Given the description of an element on the screen output the (x, y) to click on. 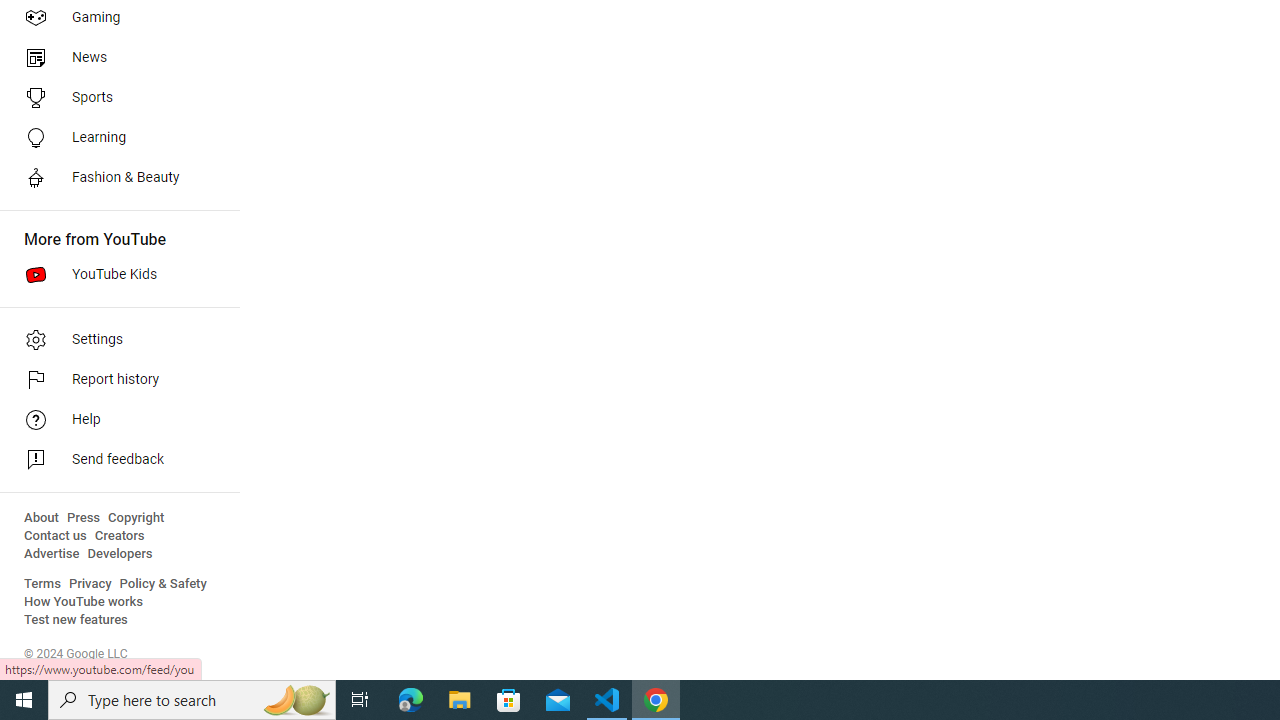
Creators (118, 536)
Copyright (136, 518)
Send feedback (113, 459)
Learning (113, 137)
How YouTube works (83, 602)
